Given the description of an element on the screen output the (x, y) to click on. 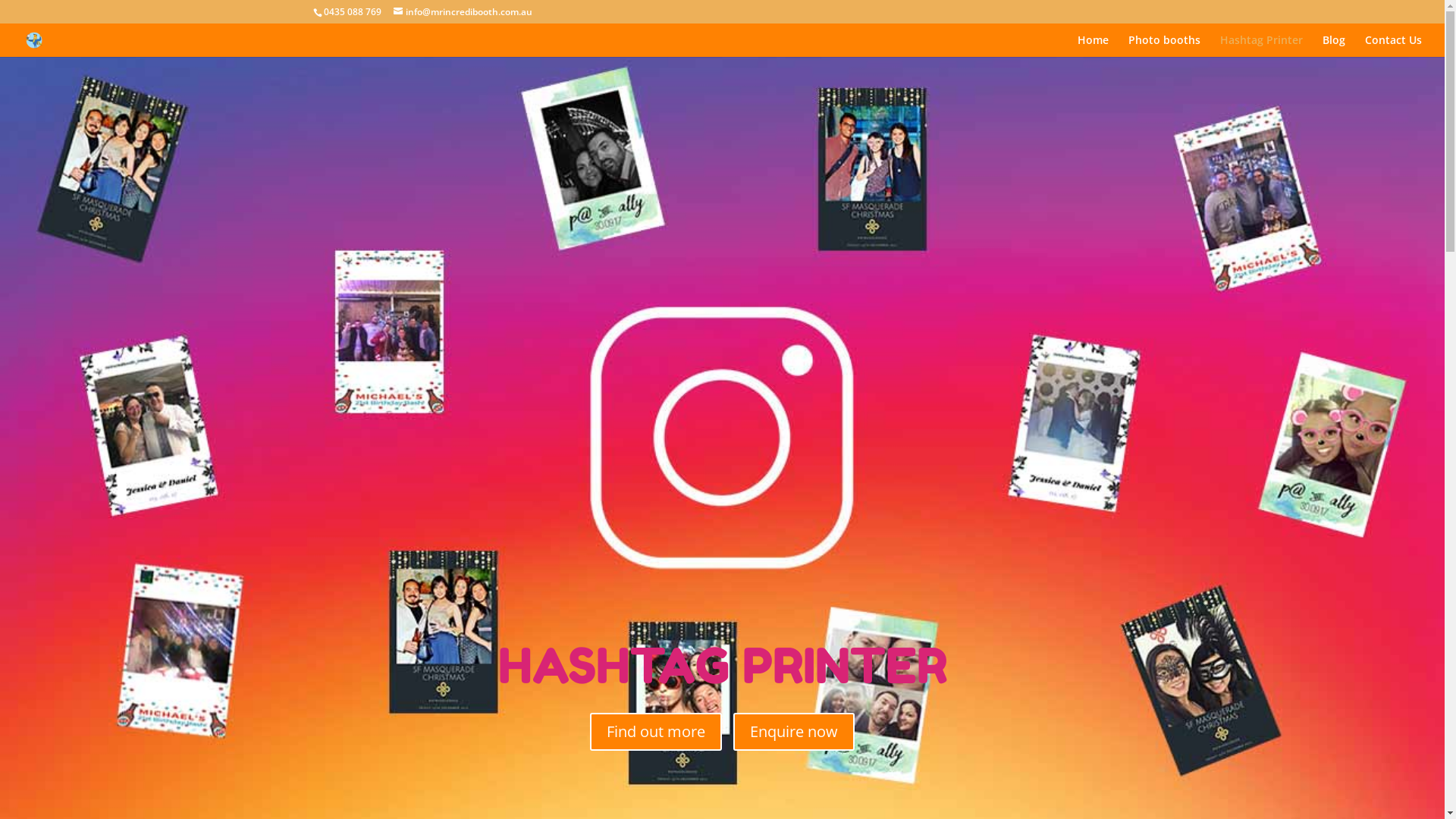
Home Element type: text (1092, 45)
Hashtag Printer Element type: text (1261, 45)
info@mrincredibooth.com.au Element type: text (461, 11)
Enquire now Element type: text (793, 731)
Contact Us Element type: text (1393, 45)
Photo booths Element type: text (1164, 45)
Find out more Element type: text (655, 731)
Blog Element type: text (1333, 45)
